Given the description of an element on the screen output the (x, y) to click on. 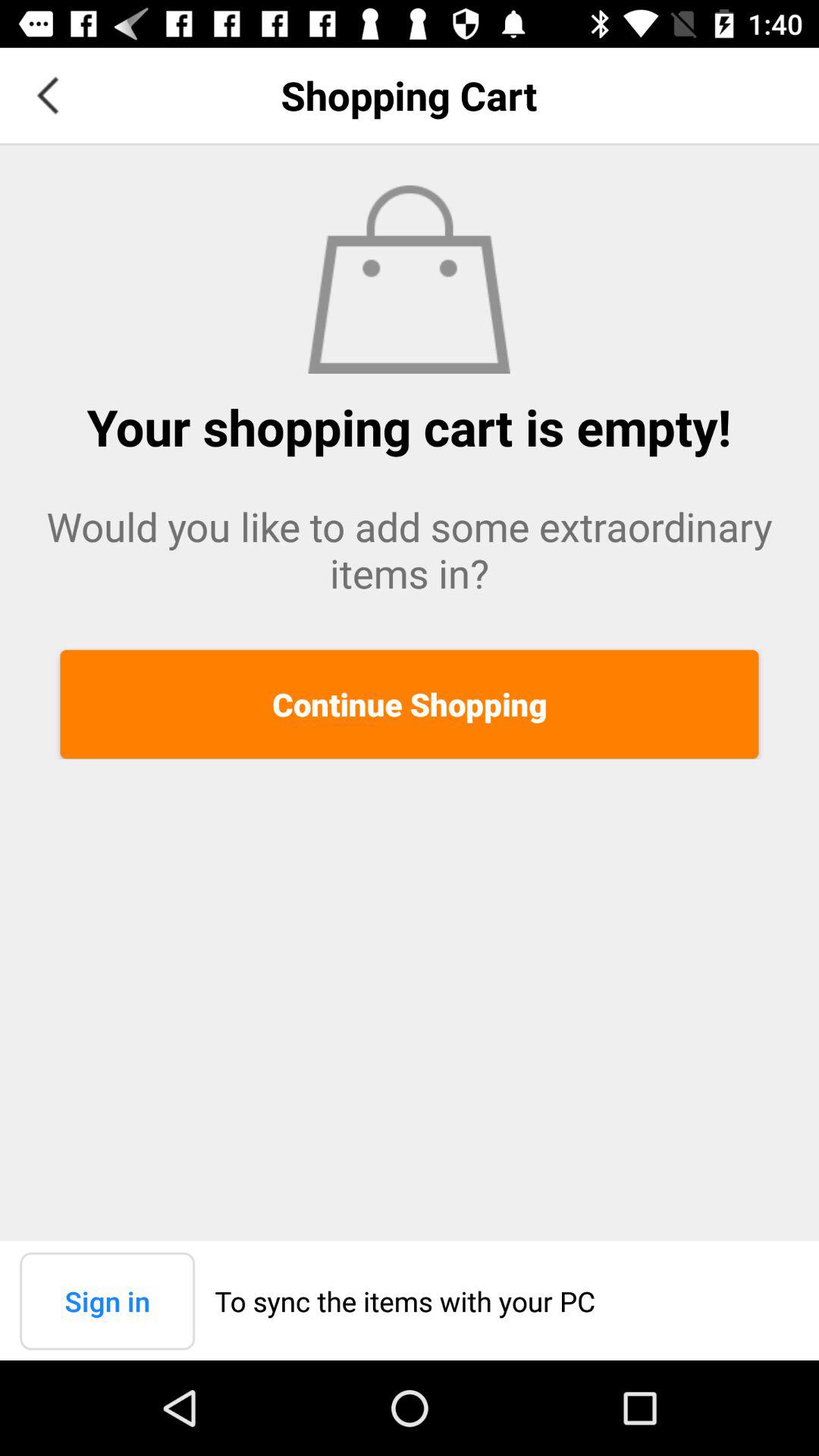
choose app next to the shopping cart item (47, 95)
